Given the description of an element on the screen output the (x, y) to click on. 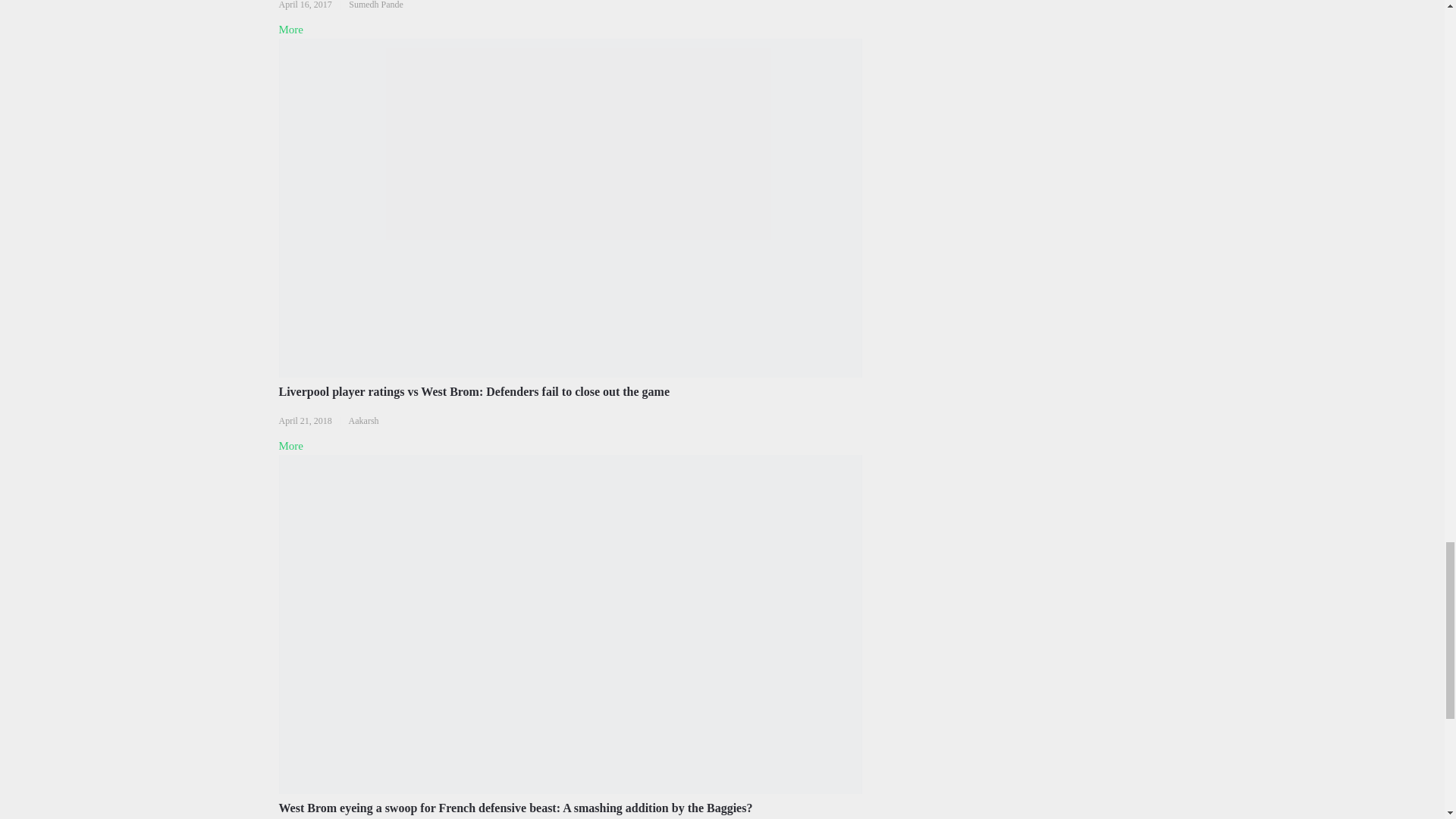
Posts by Sumedh Pande (376, 4)
